Given the description of an element on the screen output the (x, y) to click on. 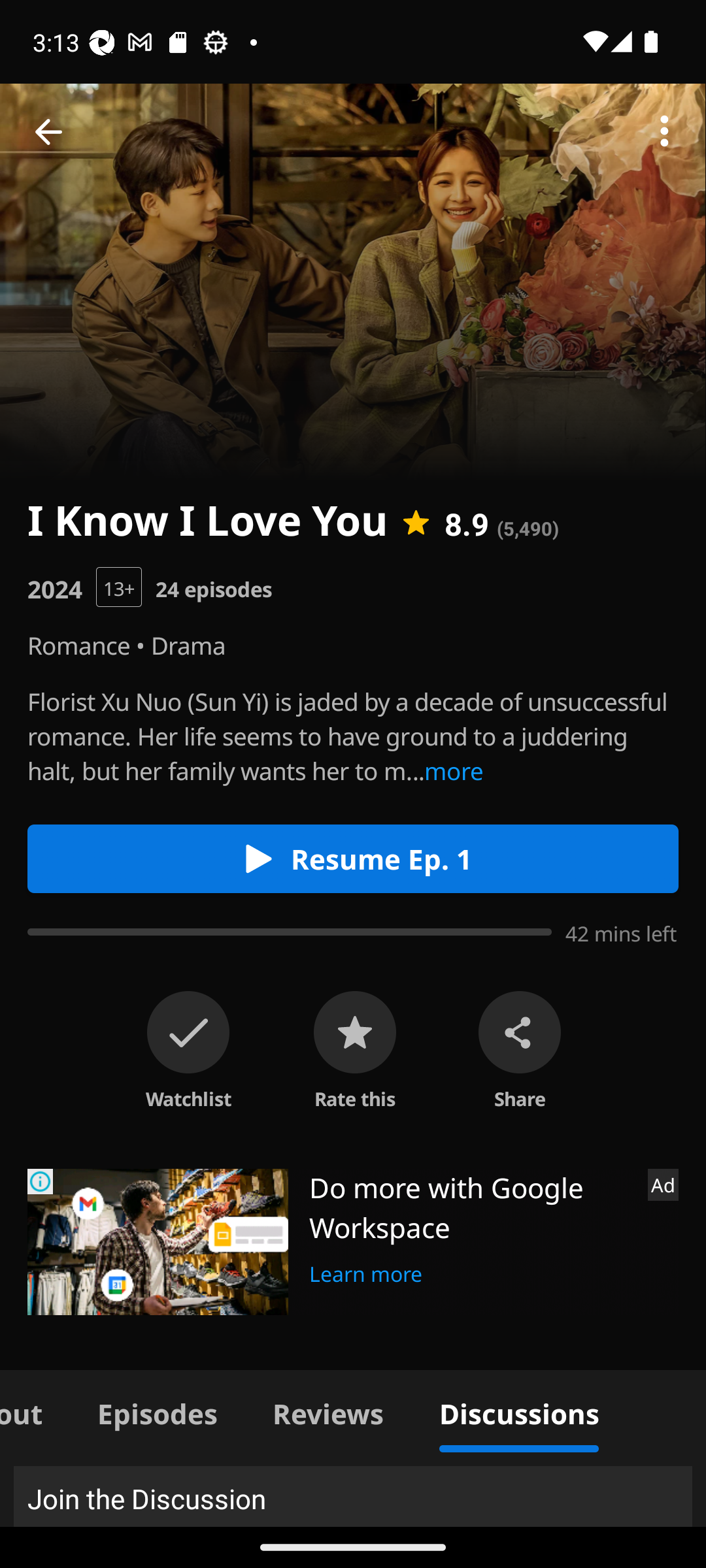
More (664, 131)
on (187, 1032)
Ad Choices Icon (39, 1181)
Do more with Google Workspace (471, 1207)
Learn more (365, 1271)
Episodes (156, 1410)
Reviews (327, 1410)
Join the Discussion (352, 1496)
